Given the description of an element on the screen output the (x, y) to click on. 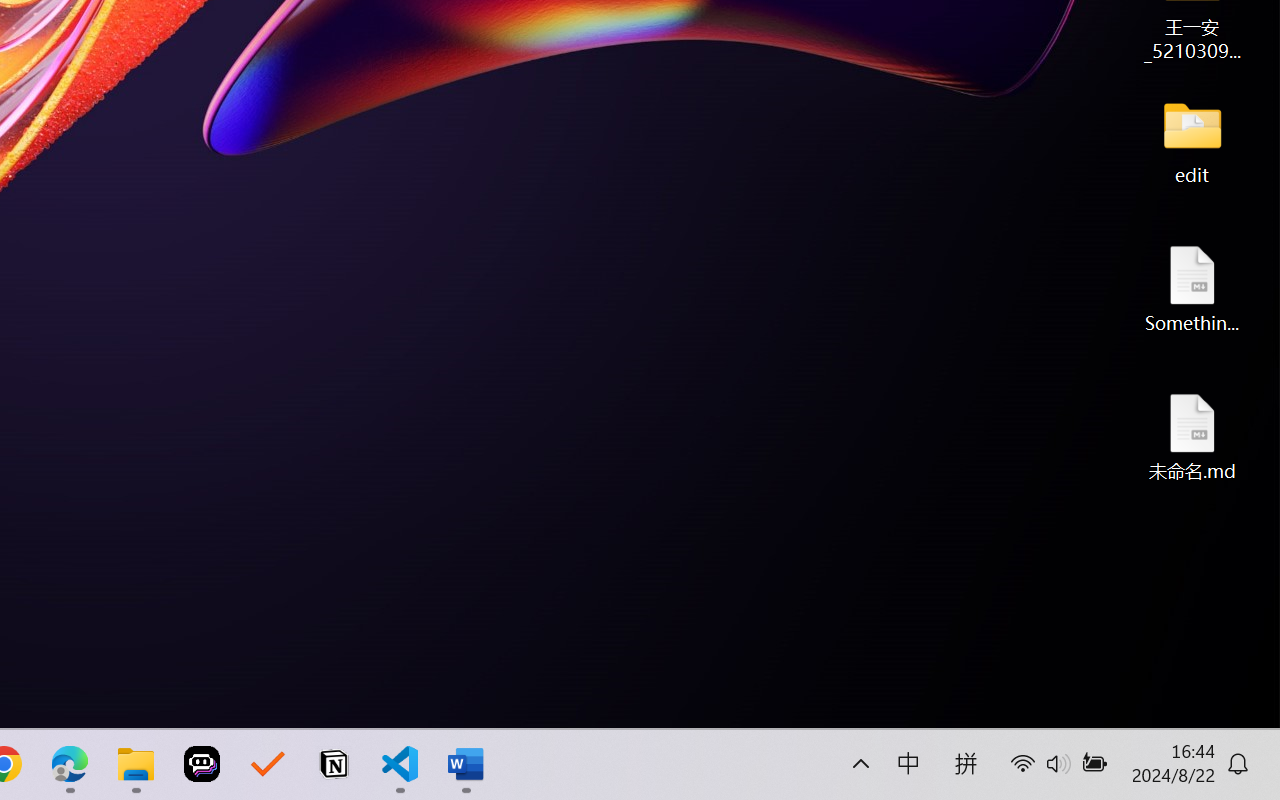
Something.md (1192, 288)
